Given the description of an element on the screen output the (x, y) to click on. 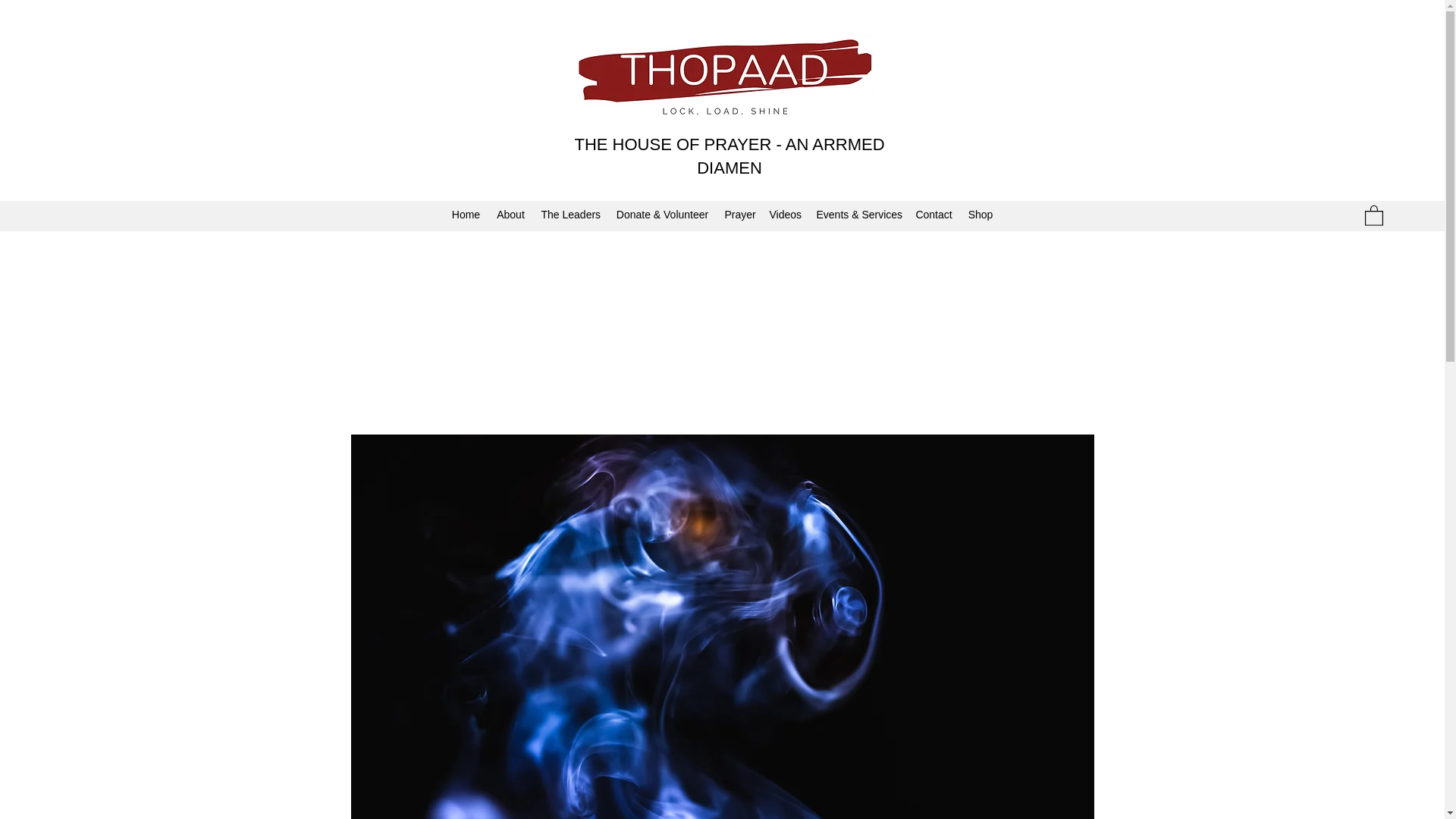
About (510, 214)
The Leaders (571, 214)
Shop (979, 214)
THE HOUSE OF PRAYER - AN ARRMED DIAMEN (728, 156)
Home (465, 214)
Prayer (739, 214)
Contact (933, 214)
Videos (784, 214)
